Given the description of an element on the screen output the (x, y) to click on. 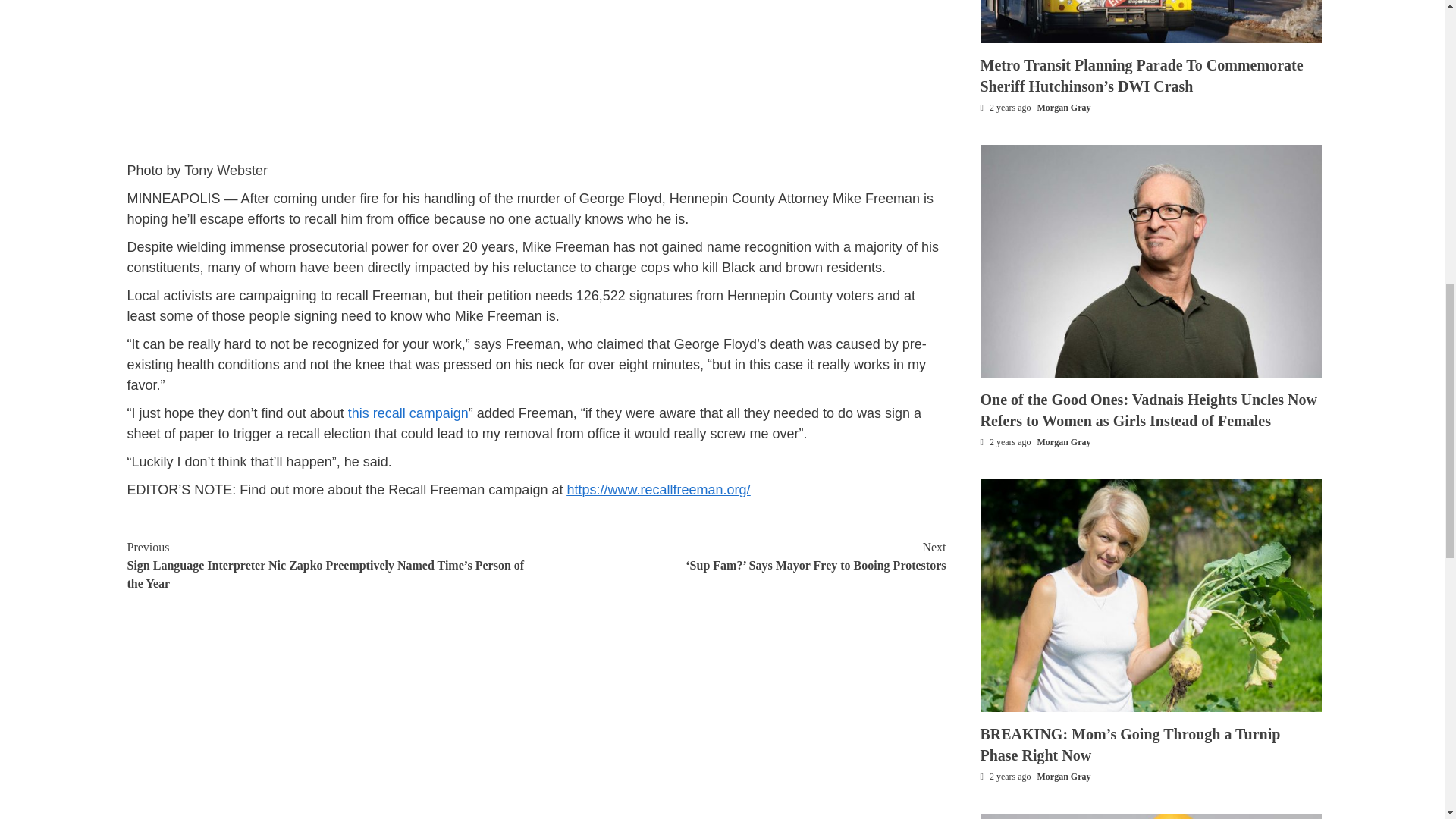
Morgan Gray (1063, 441)
this recall campaign (407, 412)
Morgan Gray (1063, 107)
Tony Webster (225, 170)
